Given the description of an element on the screen output the (x, y) to click on. 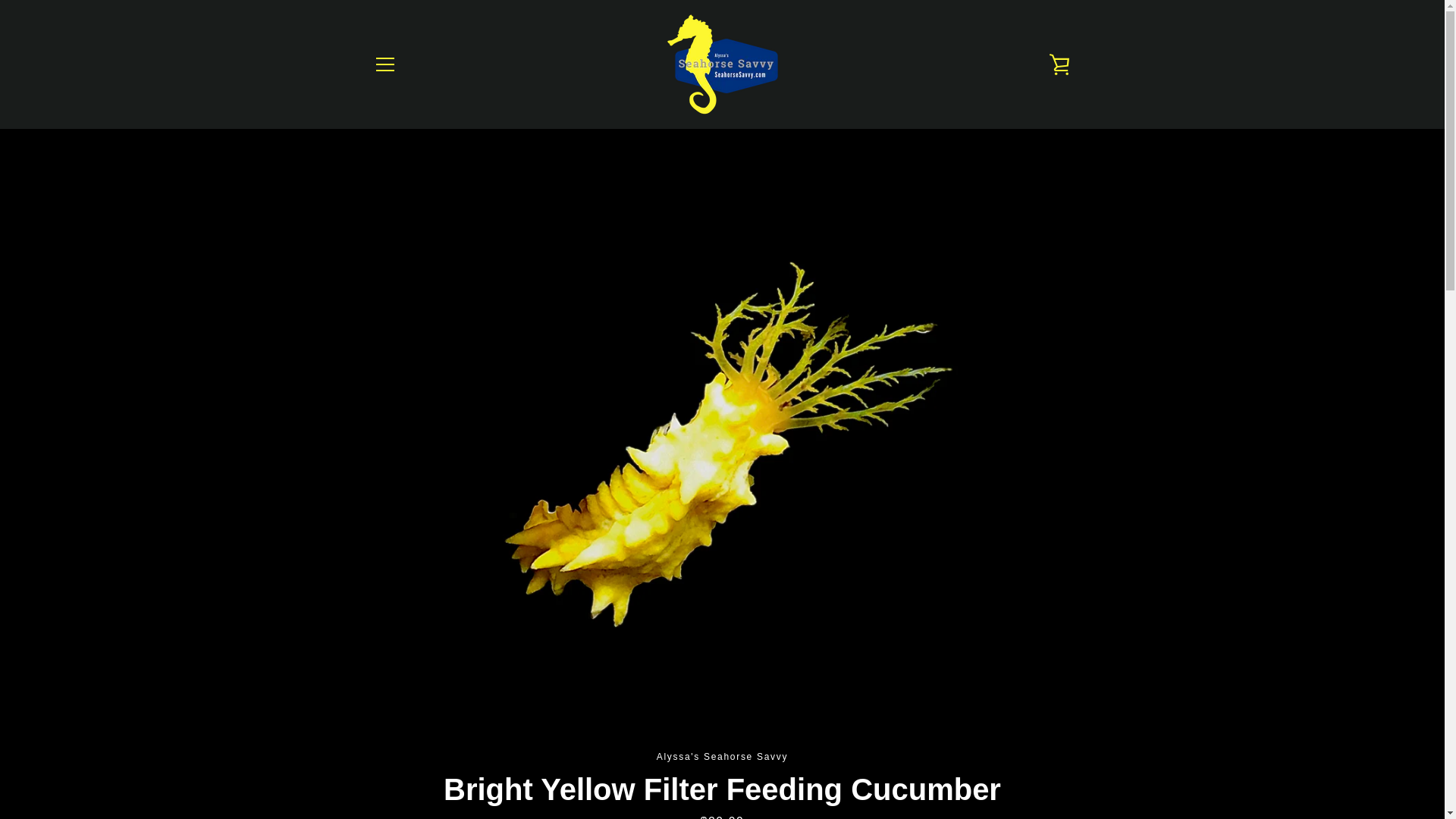
Diners Club (918, 755)
Discover (953, 755)
Shop Pay (988, 778)
Meta Pay (988, 755)
Alyssa's Seahorse Savvy on Instagram (399, 765)
MENU (384, 64)
Visa (1057, 778)
Mastercard (1022, 755)
Venmo (1022, 778)
Alyssa's Seahorse Savvy on Facebook (372, 765)
PayPal (1057, 755)
American Express (883, 755)
